Given the description of an element on the screen output the (x, y) to click on. 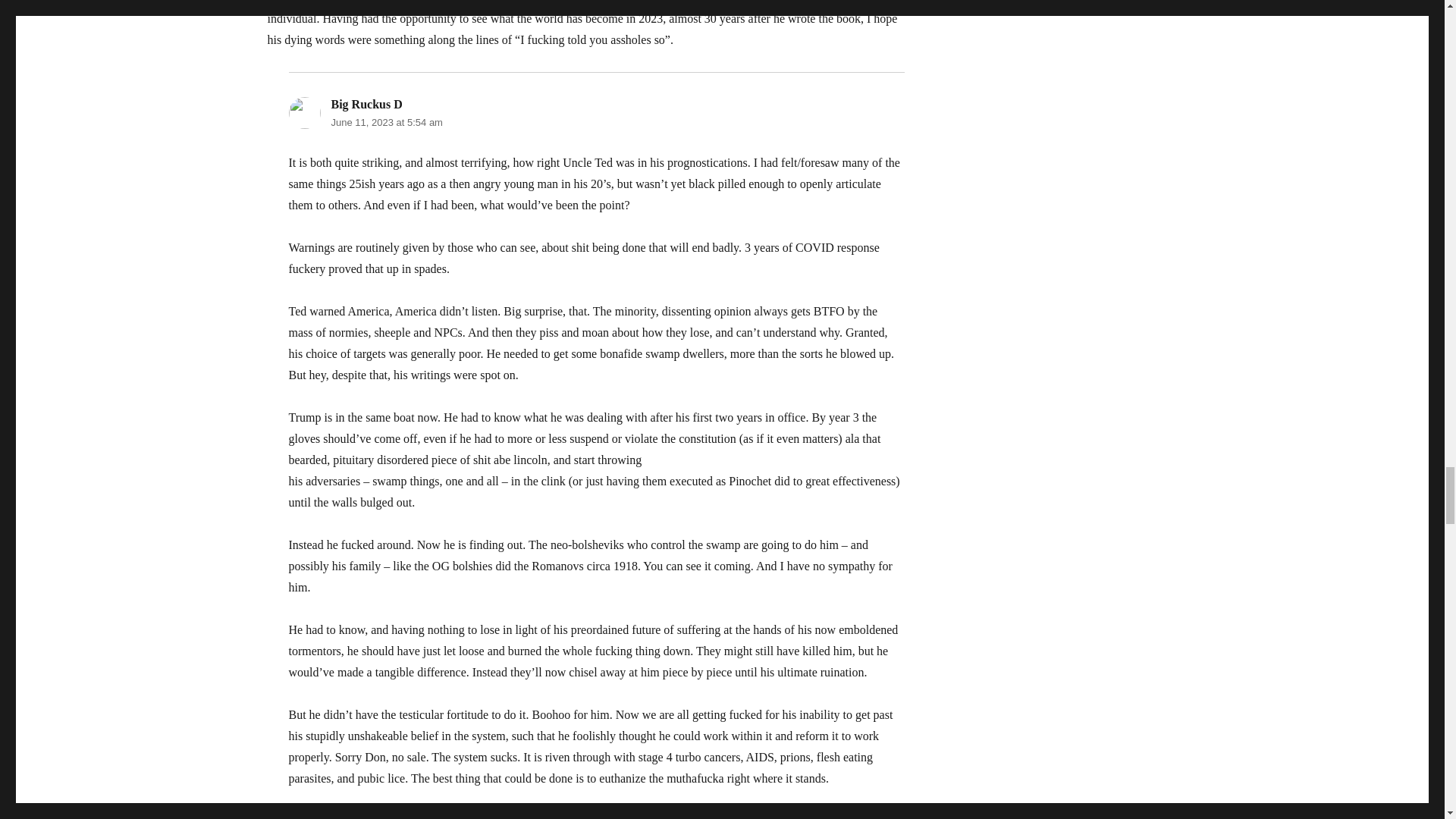
June 11, 2023 at 5:54 am (386, 122)
